Given the description of an element on the screen output the (x, y) to click on. 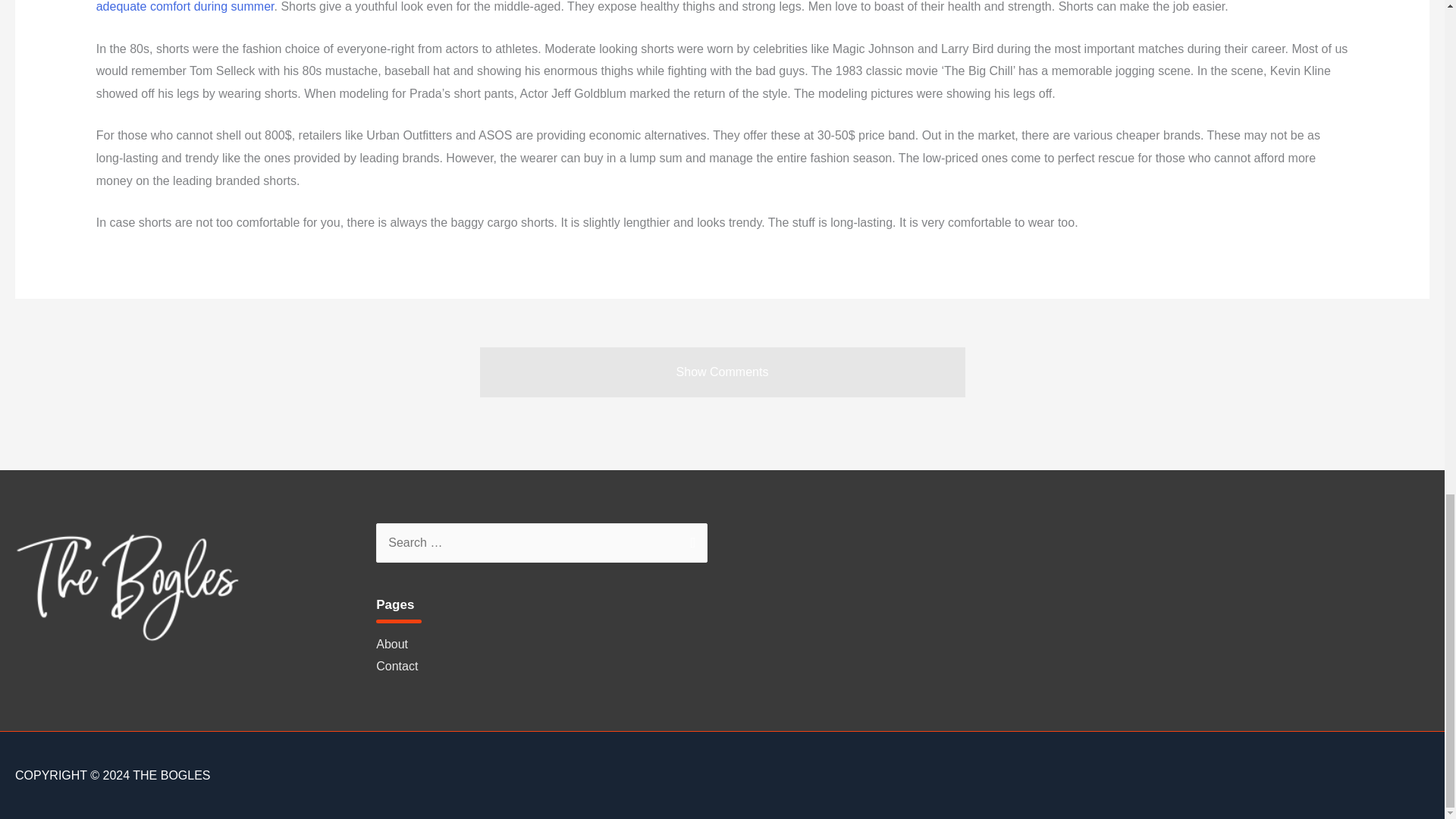
adequate comfort during summer (185, 6)
About (391, 644)
Contact (396, 666)
